Given the description of an element on the screen output the (x, y) to click on. 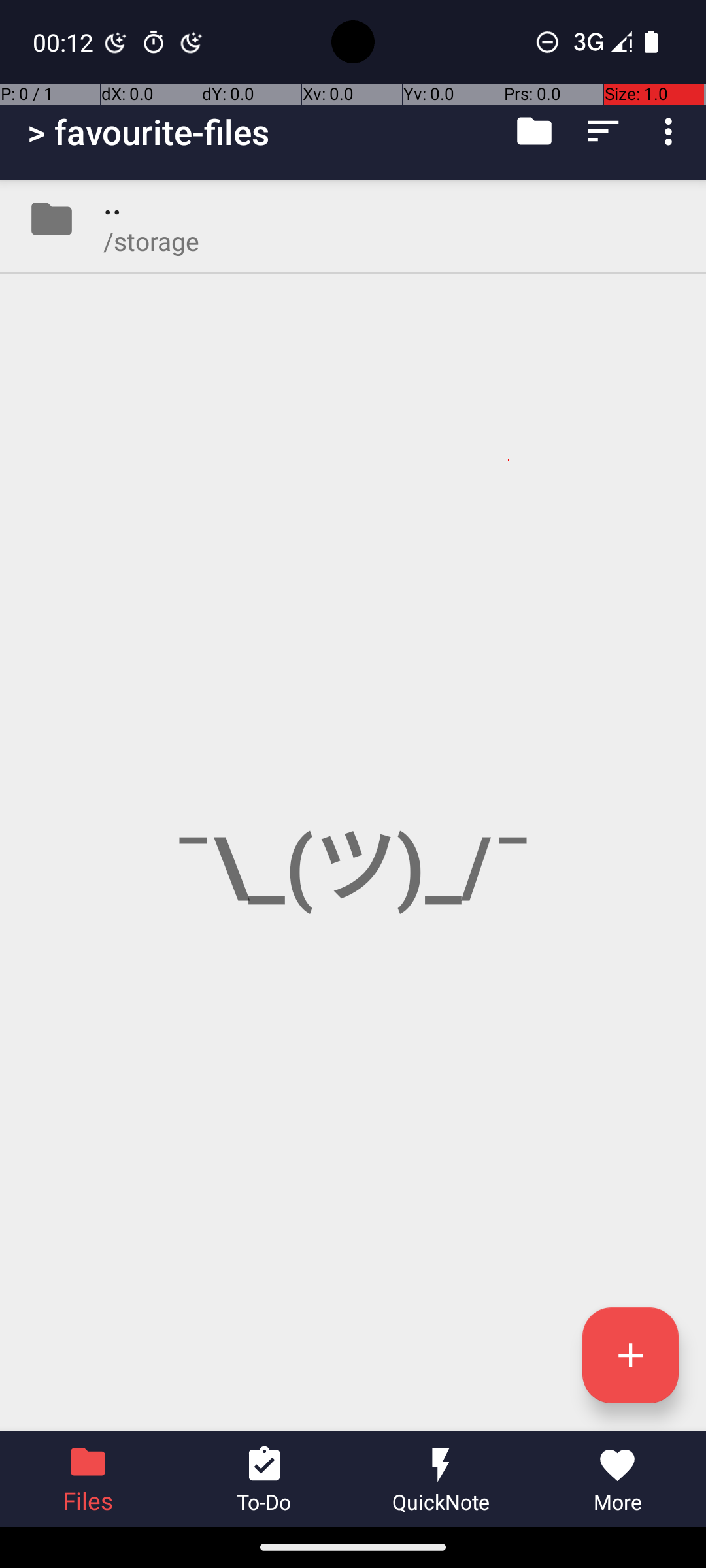
> favourite-files Element type: android.widget.TextView (148, 131)
Folder .. /storage/emulated/0/Documents/markor Element type: android.widget.LinearLayout (353, 218)
00:12 Element type: android.widget.TextView (64, 41)
Digital Wellbeing notification: Bedtime mode is on Element type: android.widget.ImageView (115, 41)
Digital Wellbeing notification: Do Not Disturb for Bedtime mode Element type: android.widget.ImageView (191, 41)
